Given the description of an element on the screen output the (x, y) to click on. 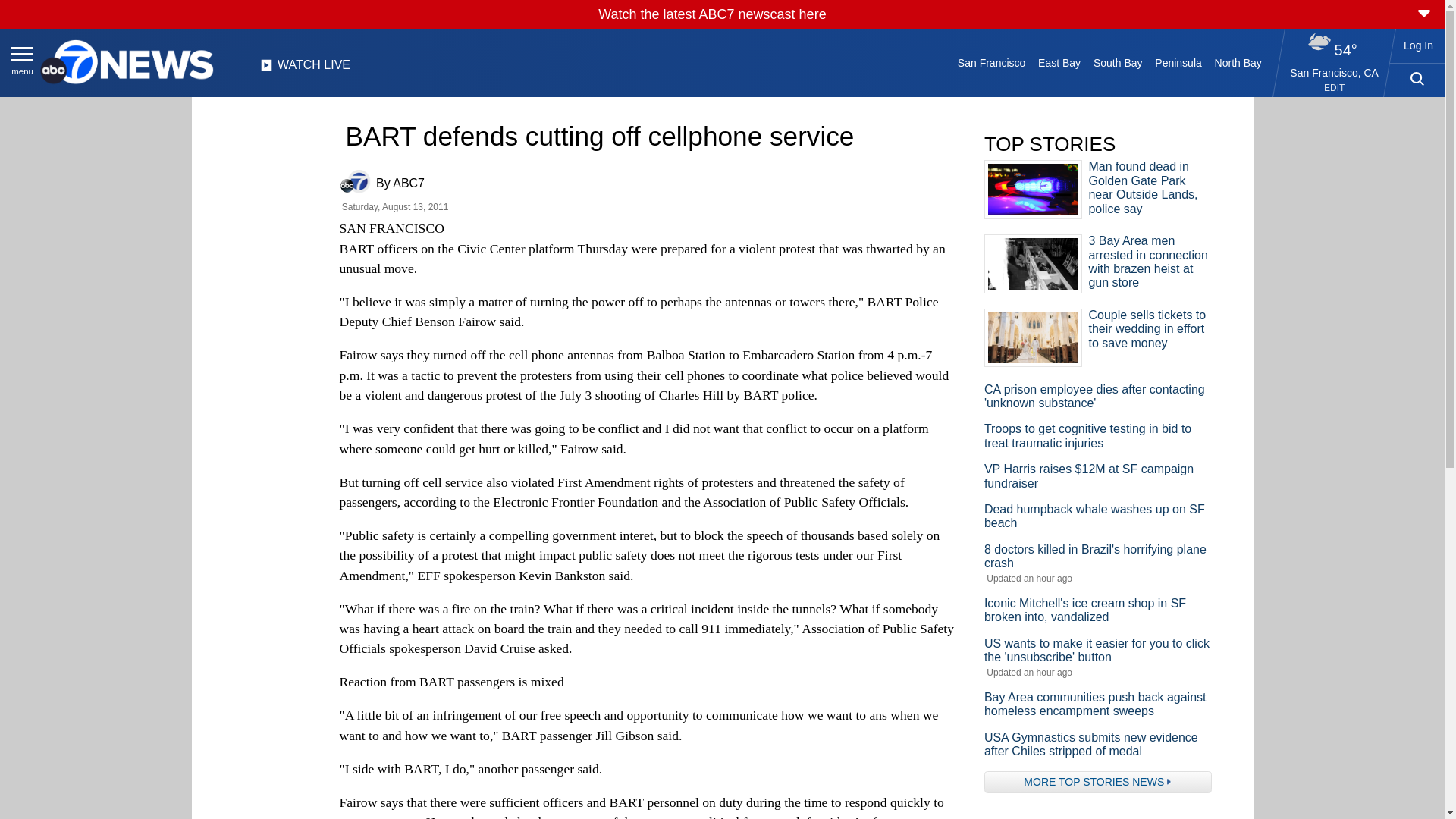
East Bay (1059, 62)
WATCH LIVE (305, 69)
Peninsula (1178, 62)
North Bay (1238, 62)
South Bay (1117, 62)
San Francisco, CA (1334, 72)
San Francisco (990, 62)
EDIT (1333, 87)
